Given the description of an element on the screen output the (x, y) to click on. 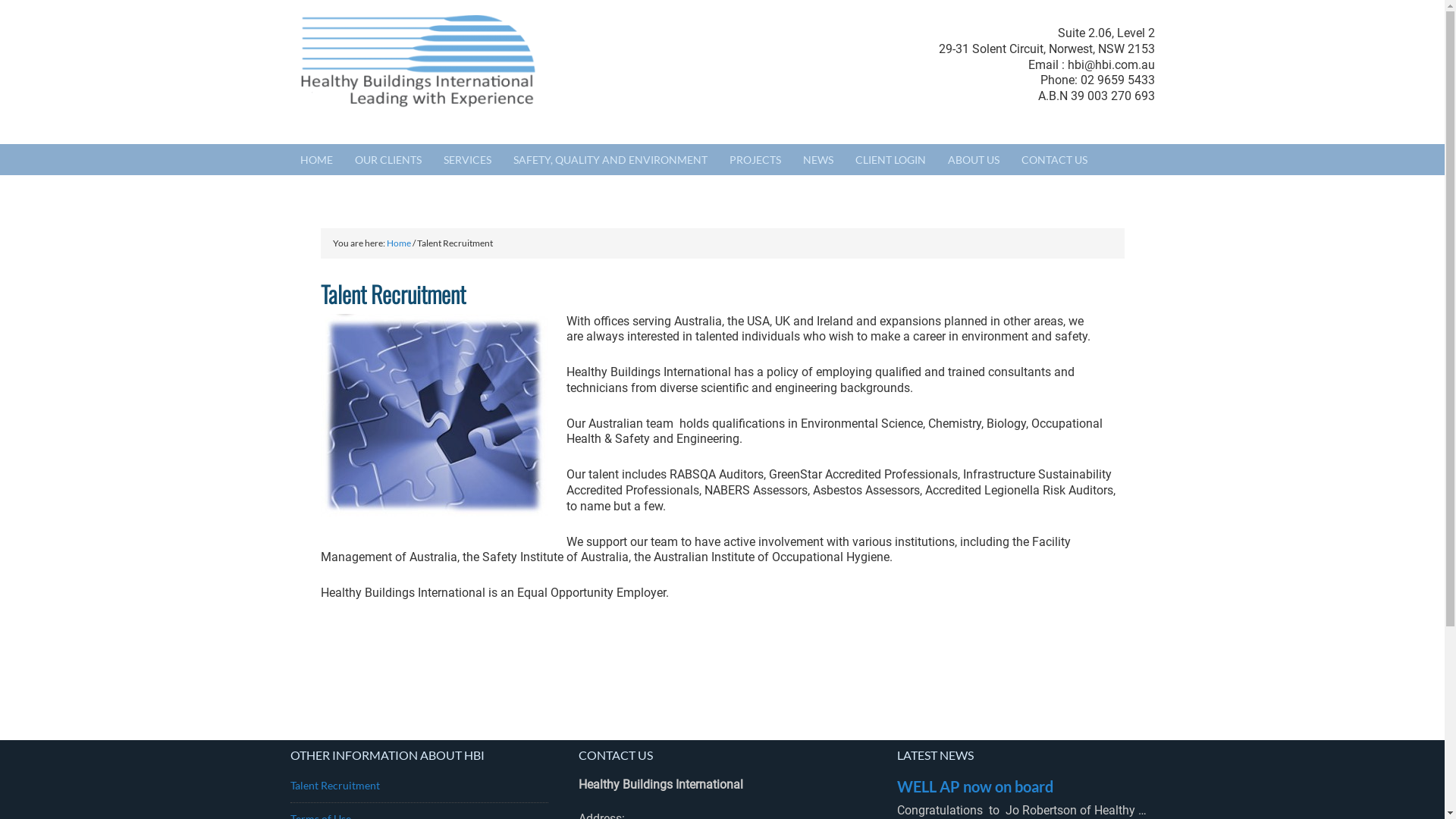
WELL AP now on board Element type: text (974, 786)
CLIENT LOGIN Element type: text (889, 159)
NEWS Element type: text (818, 159)
ABOUT US Element type: text (972, 159)
SERVICES Element type: text (467, 159)
SAFETY, QUALITY AND ENVIRONMENT Element type: text (610, 159)
HEALTHY BUILDINGS INTERNATIONAL Element type: text (478, 71)
PROJECTS Element type: text (754, 159)
Home Element type: text (398, 242)
Talent Recruitment Element type: text (334, 784)
HOME Element type: text (315, 159)
hbi@hbi.com.au Element type: text (1110, 64)
CONTACT US Element type: text (1054, 159)
OUR CLIENTS Element type: text (387, 159)
